Given the description of an element on the screen output the (x, y) to click on. 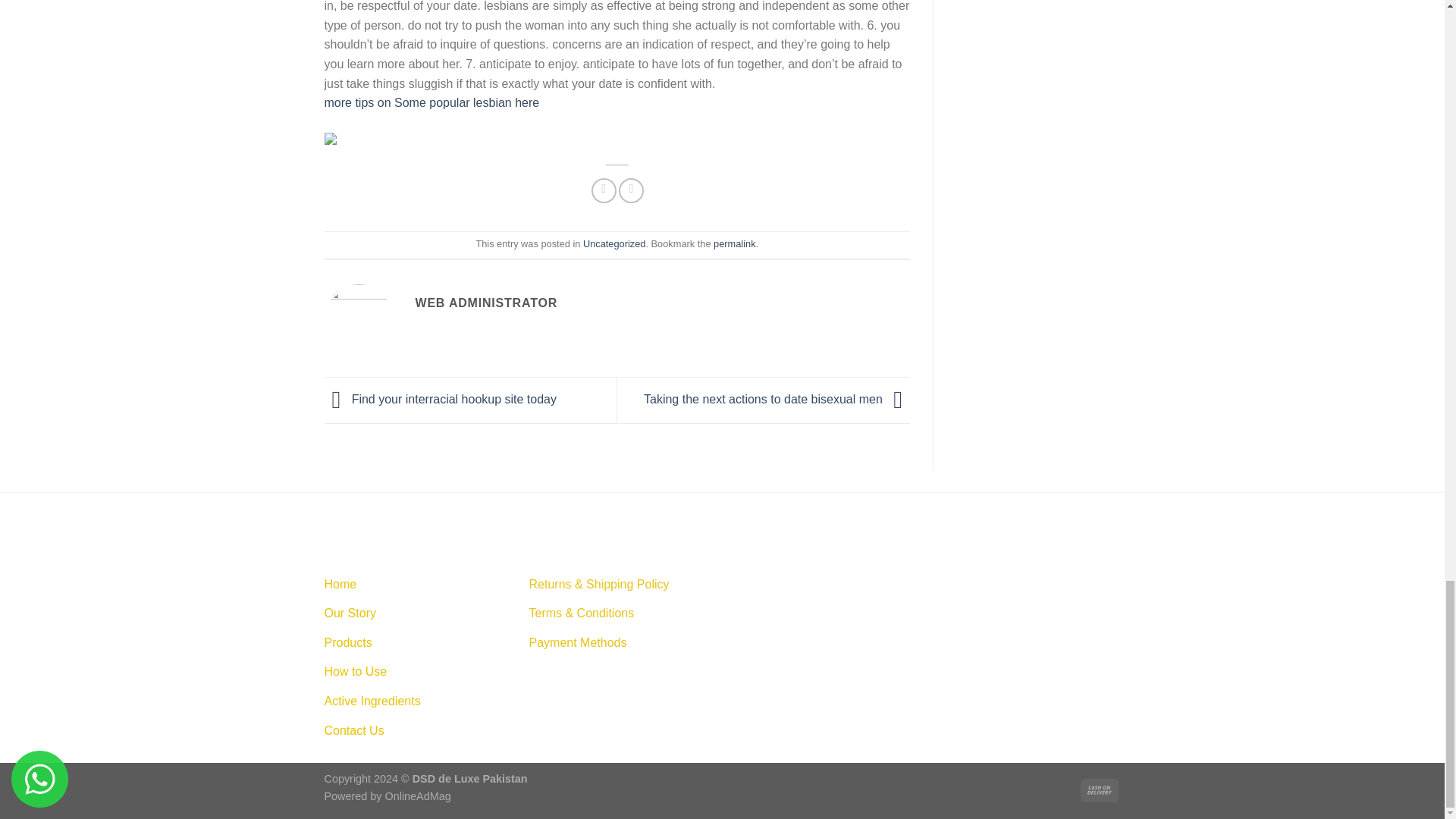
more tips on Some popular lesbian here (432, 102)
Follow on Instagram (774, 582)
Permalink to Benefits of using lesbian cougar dating sites (734, 243)
Find your interracial hookup site today (440, 399)
Follow on Facebook (747, 582)
permalink (734, 243)
Taking the next actions to date bisexual men (776, 399)
OnlineAdMag (418, 796)
Follow on Twitter (801, 582)
Send us an email (828, 582)
